Given the description of an element on the screen output the (x, y) to click on. 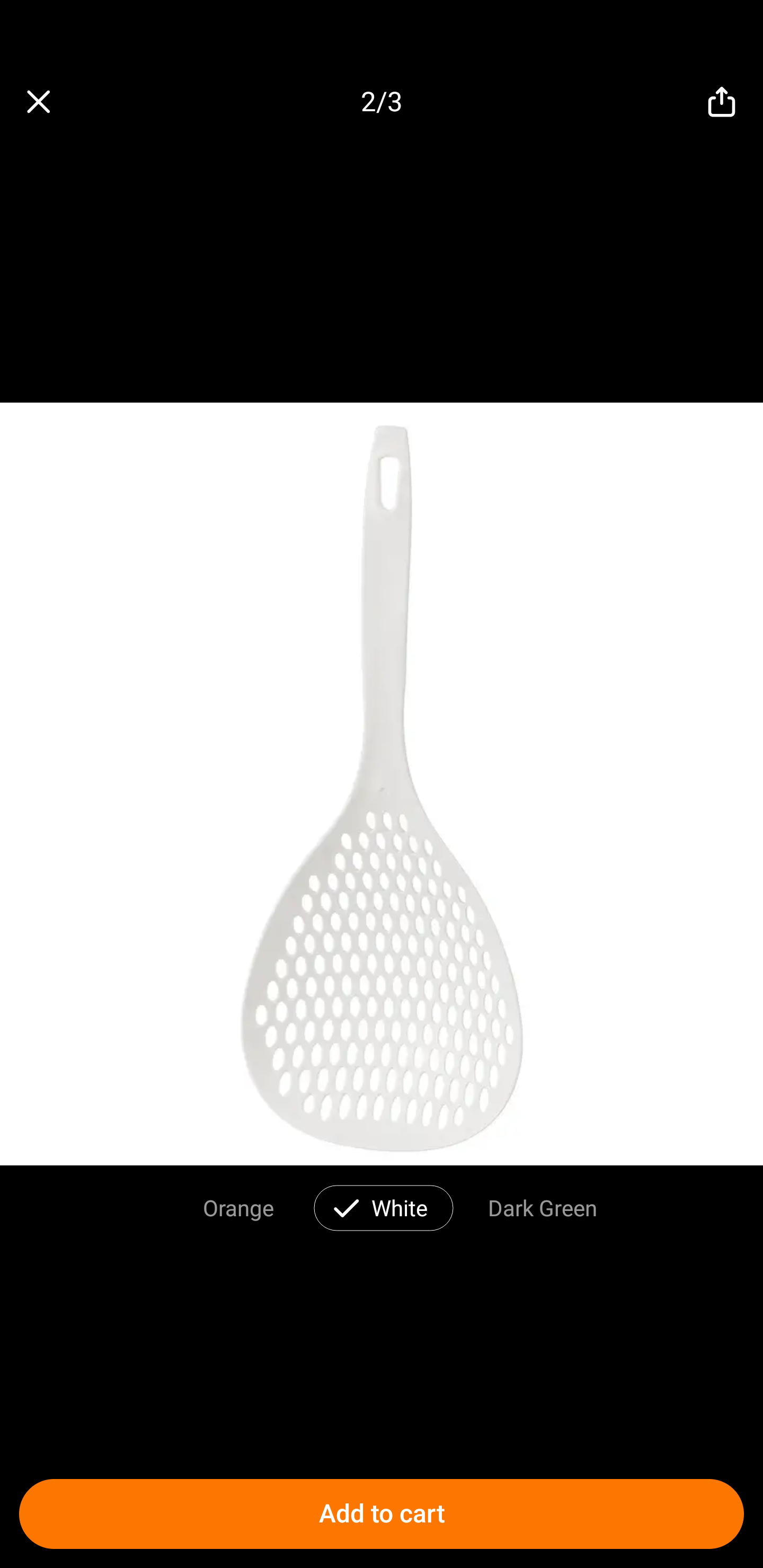
share (721, 101)
Orange White Dark Green (381, 1204)
Orange (238, 1207)
White (399, 1207)
Dark Green (542, 1207)
Add to cart (381, 1513)
